Given the description of an element on the screen output the (x, y) to click on. 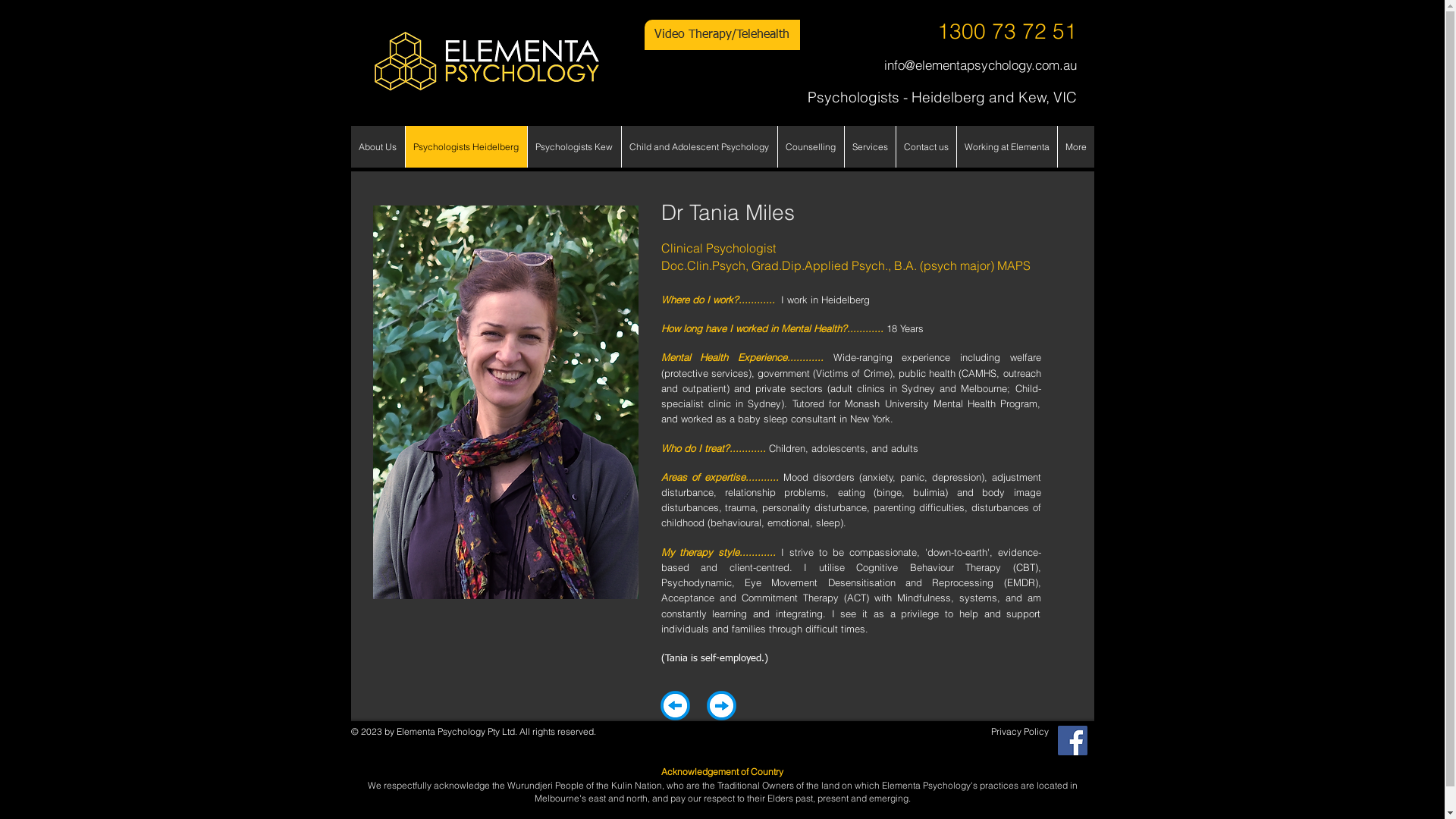
Psychologists Kew Element type: text (573, 146)
Child and Adolescent Psychology Element type: text (698, 146)
Video Therapy/Telehealth Element type: text (722, 34)
info@elementapsychology.com.au Element type: text (980, 65)
Privacy Policy Element type: text (1019, 731)
Contact us Element type: text (924, 146)
Elementa Psychology psychologists in melbourne Element type: hover (485, 61)
Working at Elementa Element type: text (1005, 146)
Psychologists Heidelberg Element type: text (465, 146)
Services Element type: text (868, 146)
1300 73 72 51 Element type: text (1006, 31)
Counselling Element type: text (809, 146)
About Us Element type: text (377, 146)
